Given the description of an element on the screen output the (x, y) to click on. 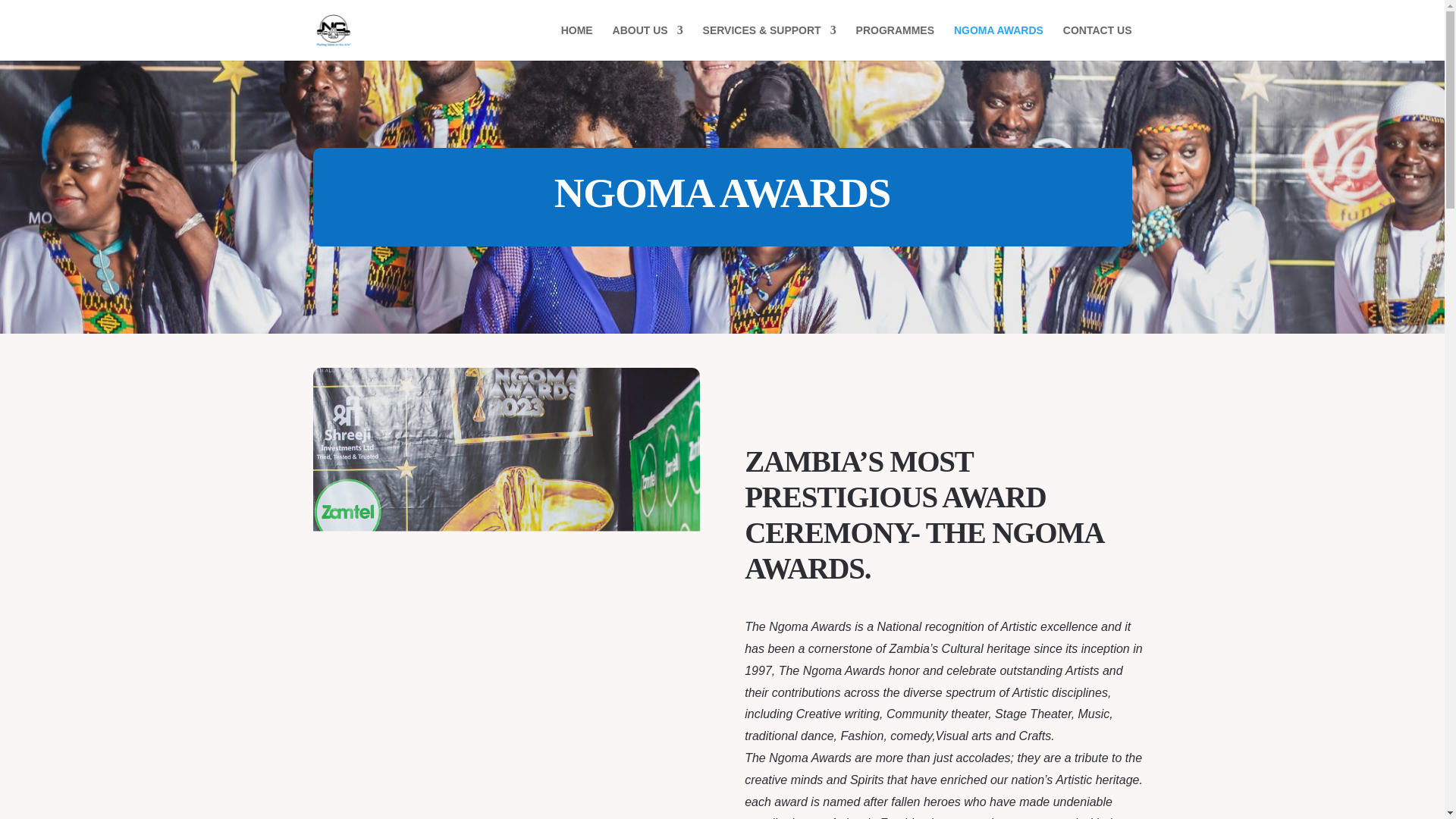
ABOUT US (647, 42)
PROGRAMMES (895, 42)
CONTACT US (1097, 42)
NGOMA AWARDS (998, 42)
HOME (576, 42)
